Given the description of an element on the screen output the (x, y) to click on. 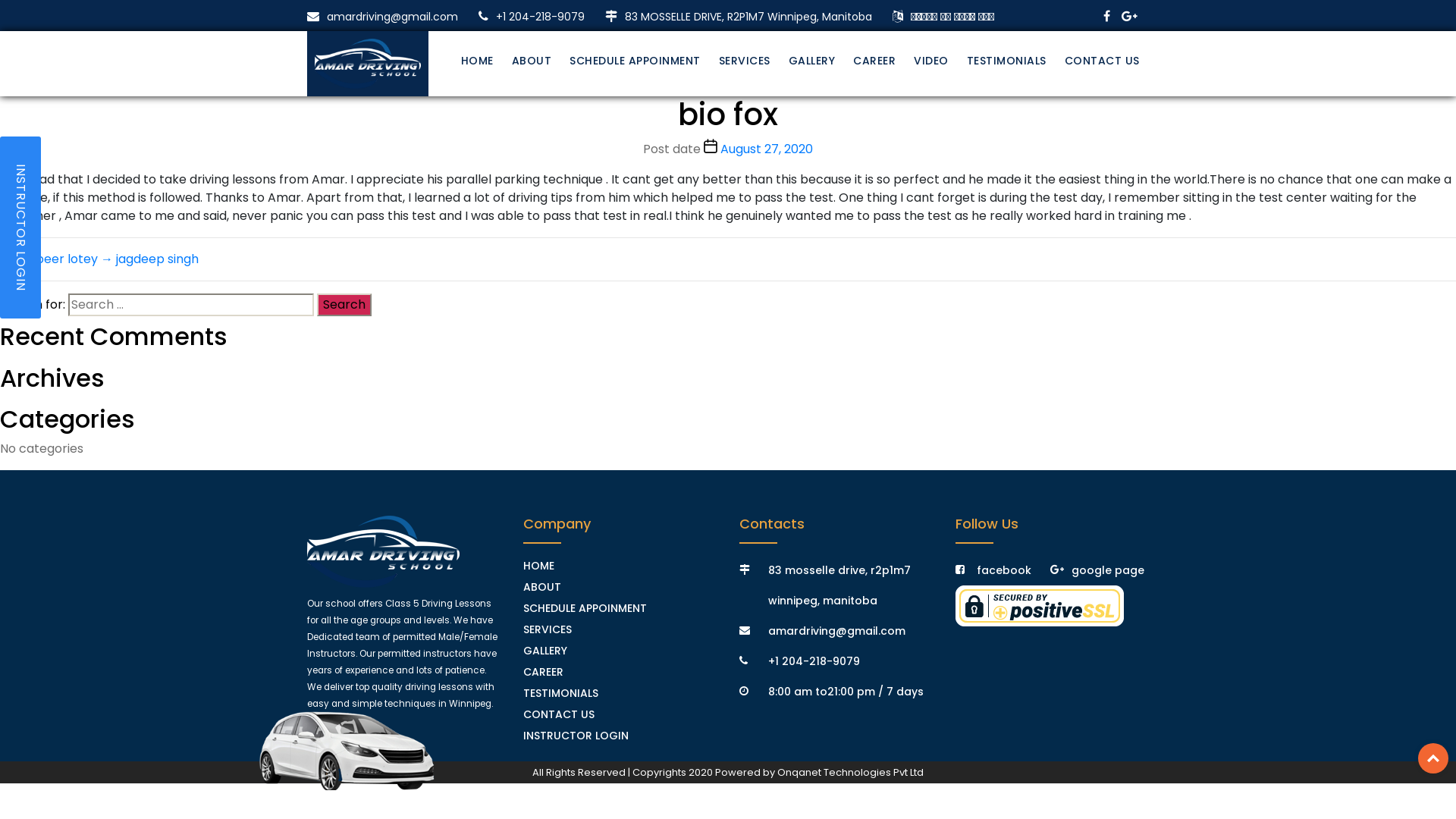
ABOUT Element type: text (530, 60)
Onqanet Technologies Pvt Ltd Element type: text (850, 772)
TESTIMONIALS Element type: text (1005, 60)
SERVICES Element type: text (744, 60)
TESTIMONIALS Element type: text (560, 692)
Top Element type: text (1433, 758)
SCHEDULE APPOINMENT Element type: text (584, 607)
CAREER Element type: text (543, 671)
GALLERY Element type: text (812, 60)
CAREER Element type: text (874, 60)
HOME Element type: text (538, 565)
SERVICES Element type: text (547, 629)
SCHEDULE APPOINMENT Element type: text (634, 60)
+1 204-218-9079 Element type: text (531, 16)
CONTACT US Element type: text (1102, 60)
INSTRUCTOR LOGIN Element type: text (575, 735)
Search Element type: text (343, 304)
83 MOSSELLE DRIVE, R2P1M7 Winnipeg, Manitoba Element type: text (738, 16)
VIDEO Element type: text (931, 60)
ABOUT Element type: text (542, 586)
HOME Element type: text (477, 60)
amardriving@gmail.com Element type: text (382, 16)
INSTRUCTOR LOGIN Element type: text (20, 227)
August 27, 2020 Element type: text (766, 148)
CONTACT US Element type: text (558, 713)
GALLERY Element type: text (545, 650)
